Given the description of an element on the screen output the (x, y) to click on. 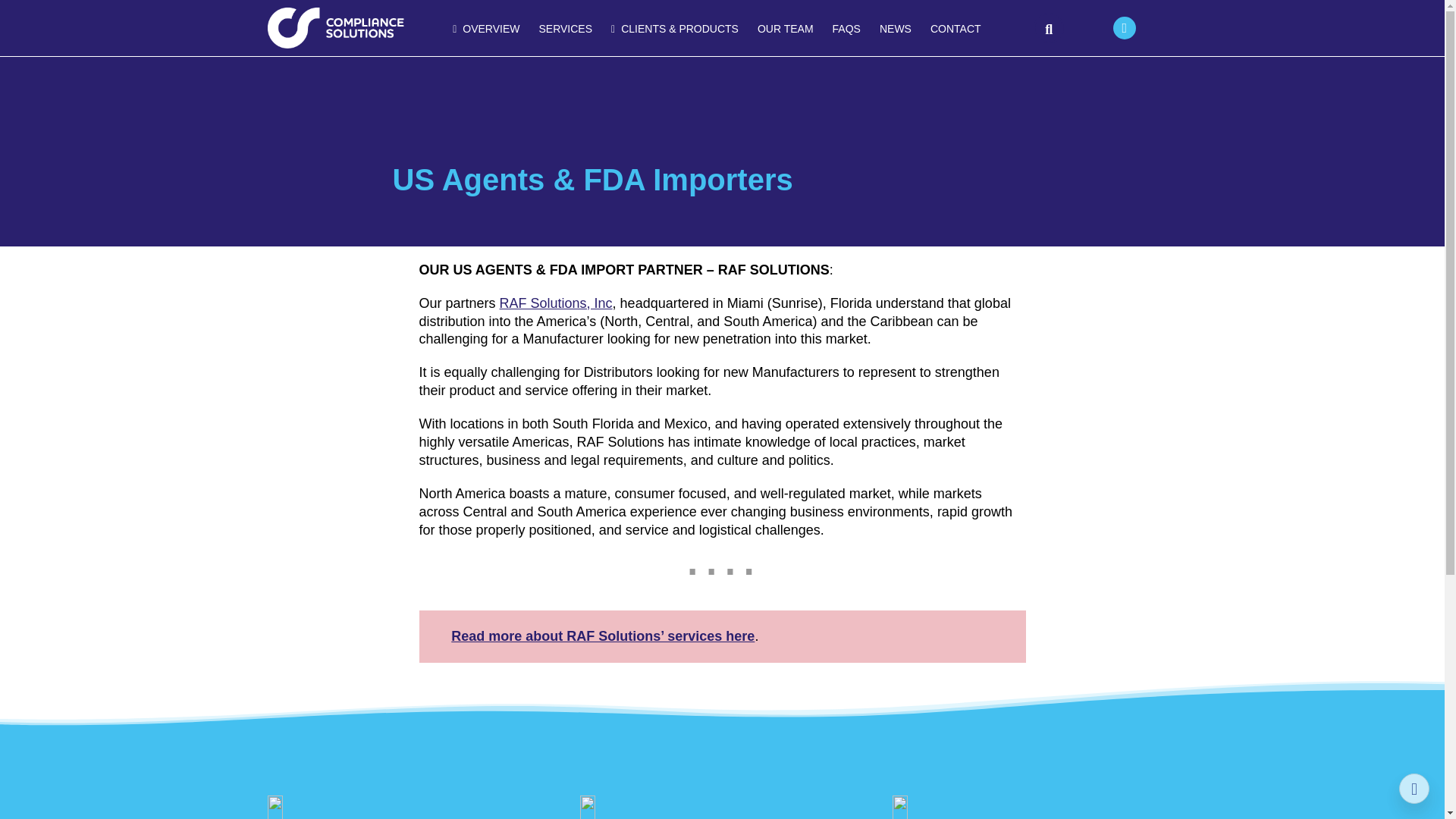
OVERVIEW (486, 29)
NEWS (895, 29)
Linkedin (1124, 27)
CONTACT (955, 29)
SERVICES (565, 29)
FAQS (846, 29)
RAF Solutions, Inc (555, 303)
OUR TEAM (785, 29)
